Given the description of an element on the screen output the (x, y) to click on. 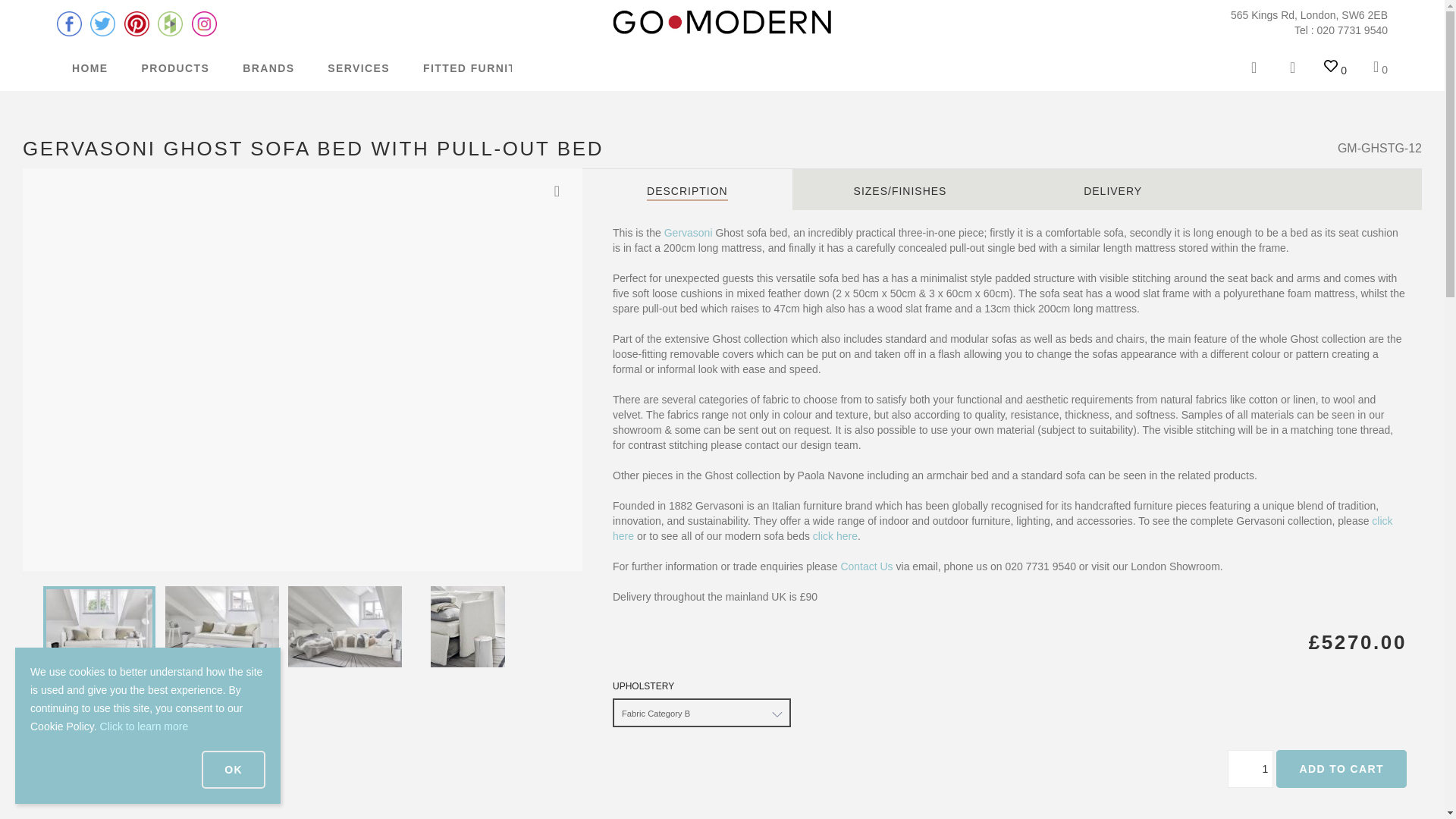
Home (722, 22)
1 (1249, 768)
Wishlist (1334, 69)
Quantity (1249, 768)
